Given the description of an element on the screen output the (x, y) to click on. 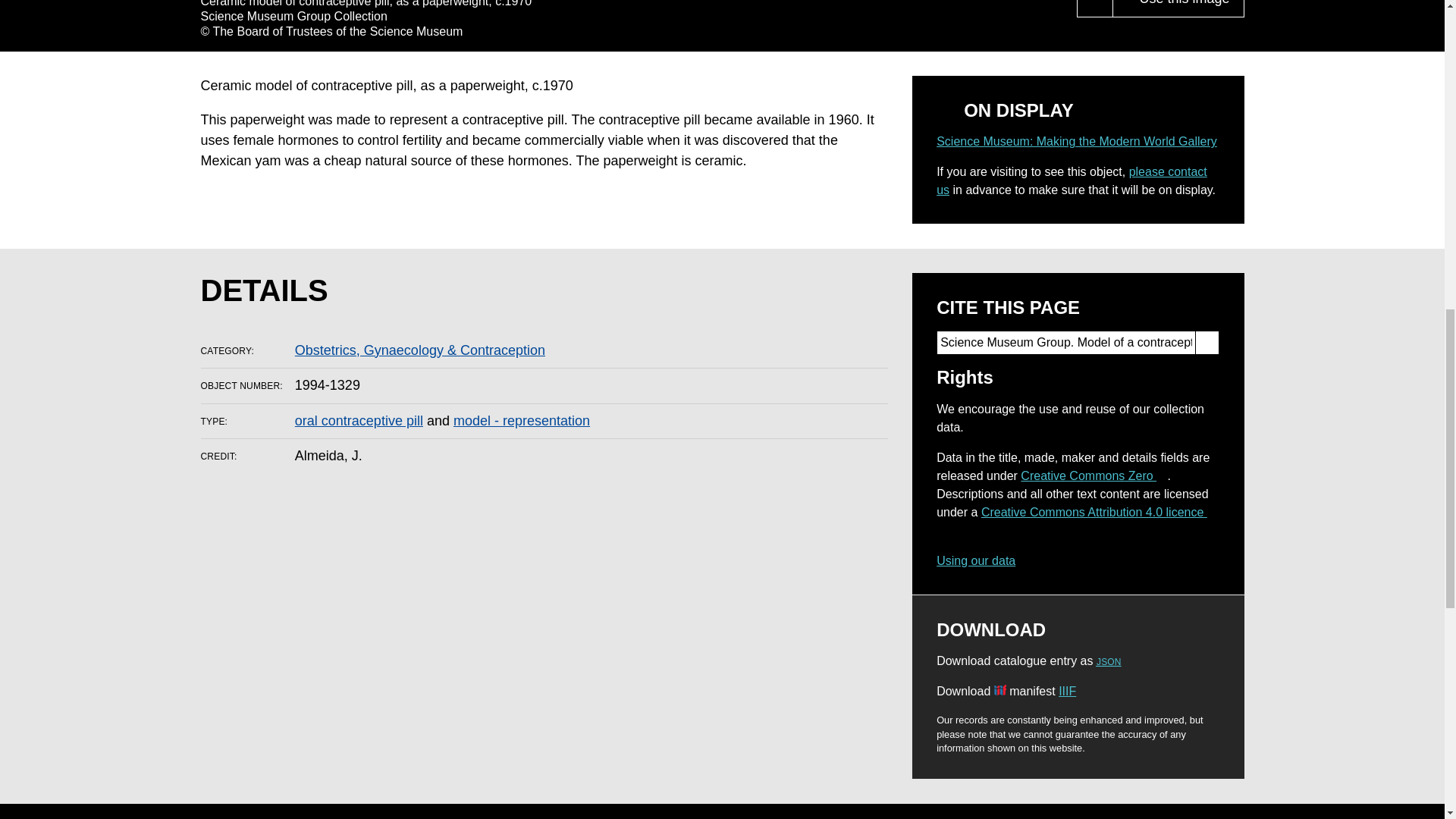
Javascript Object Notation (1108, 661)
Toggle full page (1095, 8)
Use this image (1177, 8)
